Given the description of an element on the screen output the (x, y) to click on. 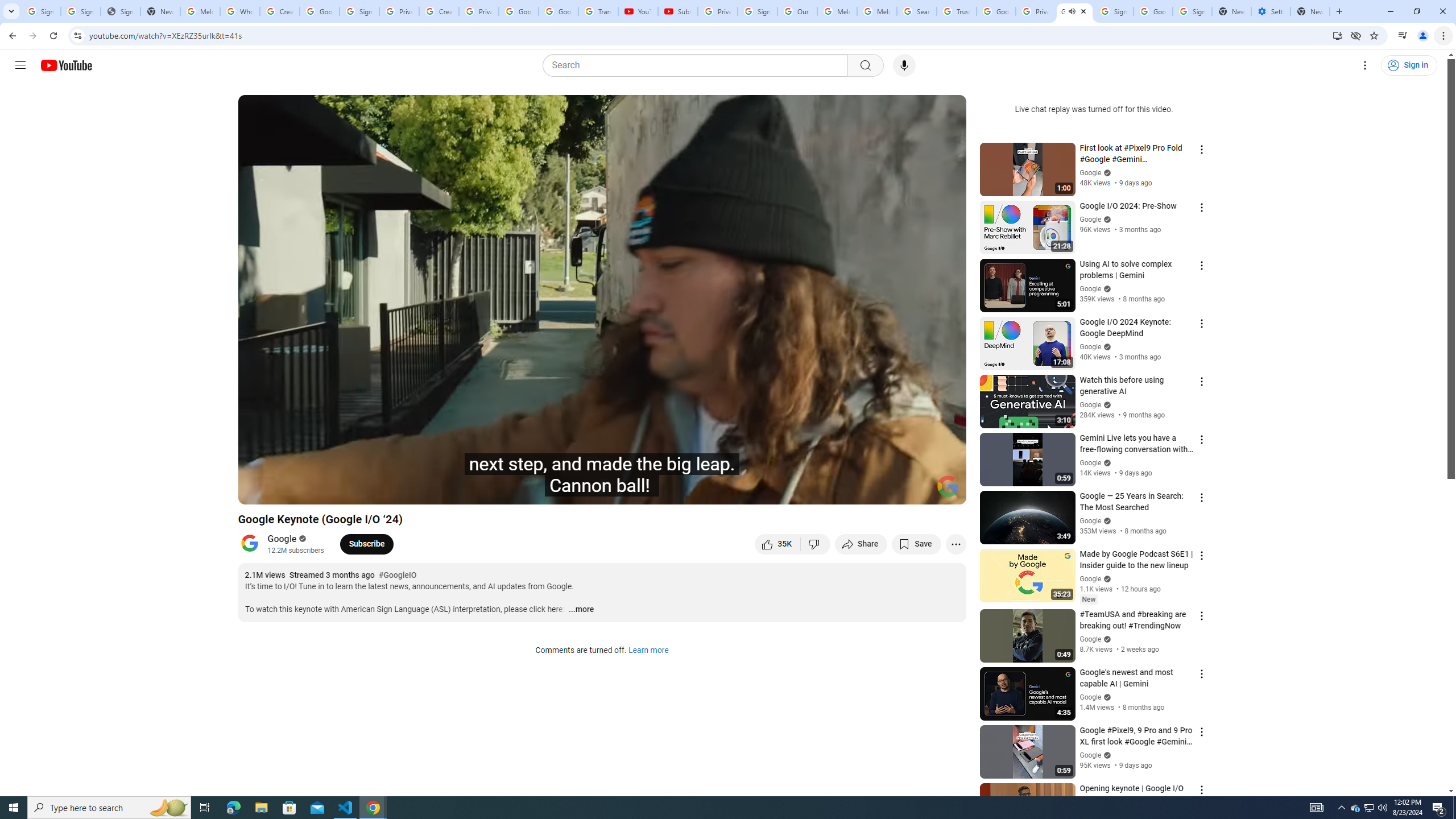
Subscribe to Google. (366, 543)
Sign in - Google Accounts (757, 11)
...more (580, 609)
